Given the description of an element on the screen output the (x, y) to click on. 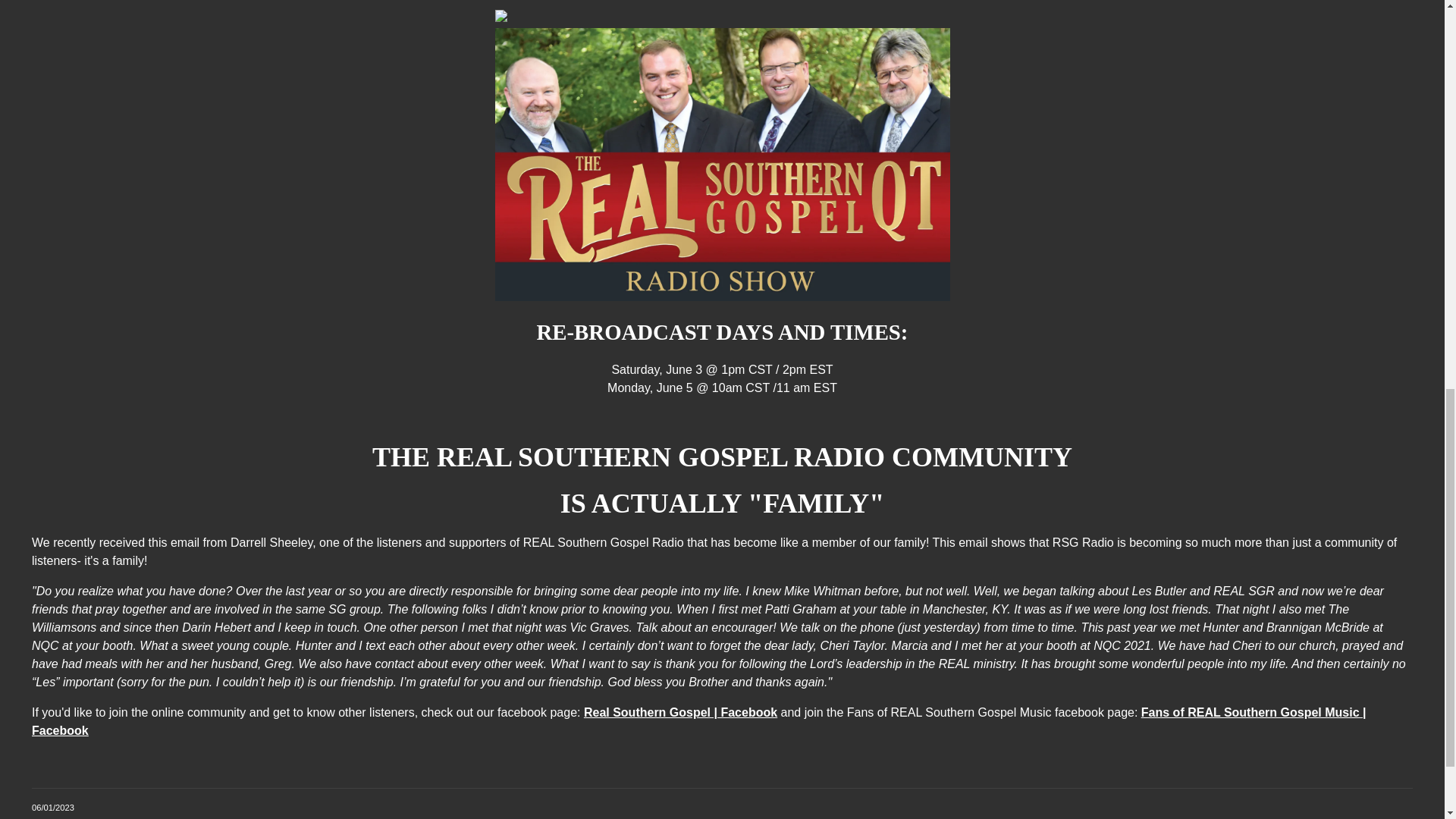
June 01, 2023 18:39 (53, 807)
This external link will open in a new window (698, 721)
This external link will open in a new window (680, 712)
